Given the description of an element on the screen output the (x, y) to click on. 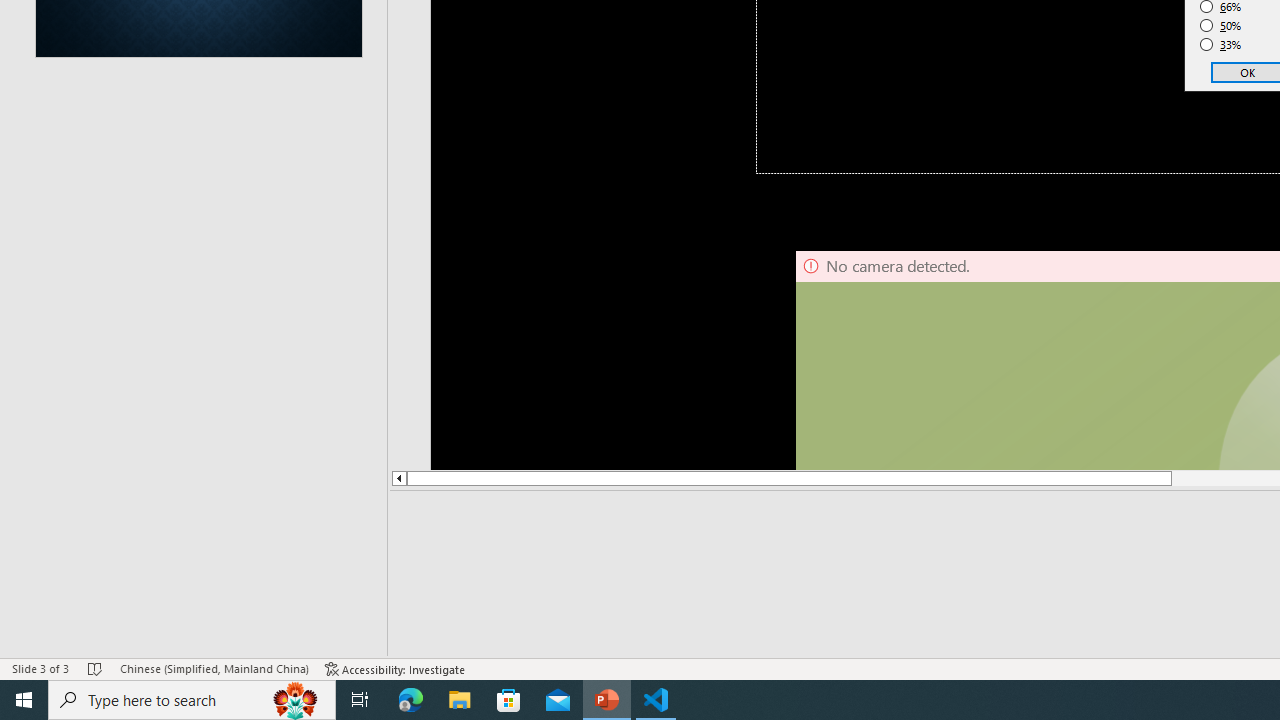
33% (1221, 44)
50% (1221, 25)
Microsoft Edge (411, 699)
